Given the description of an element on the screen output the (x, y) to click on. 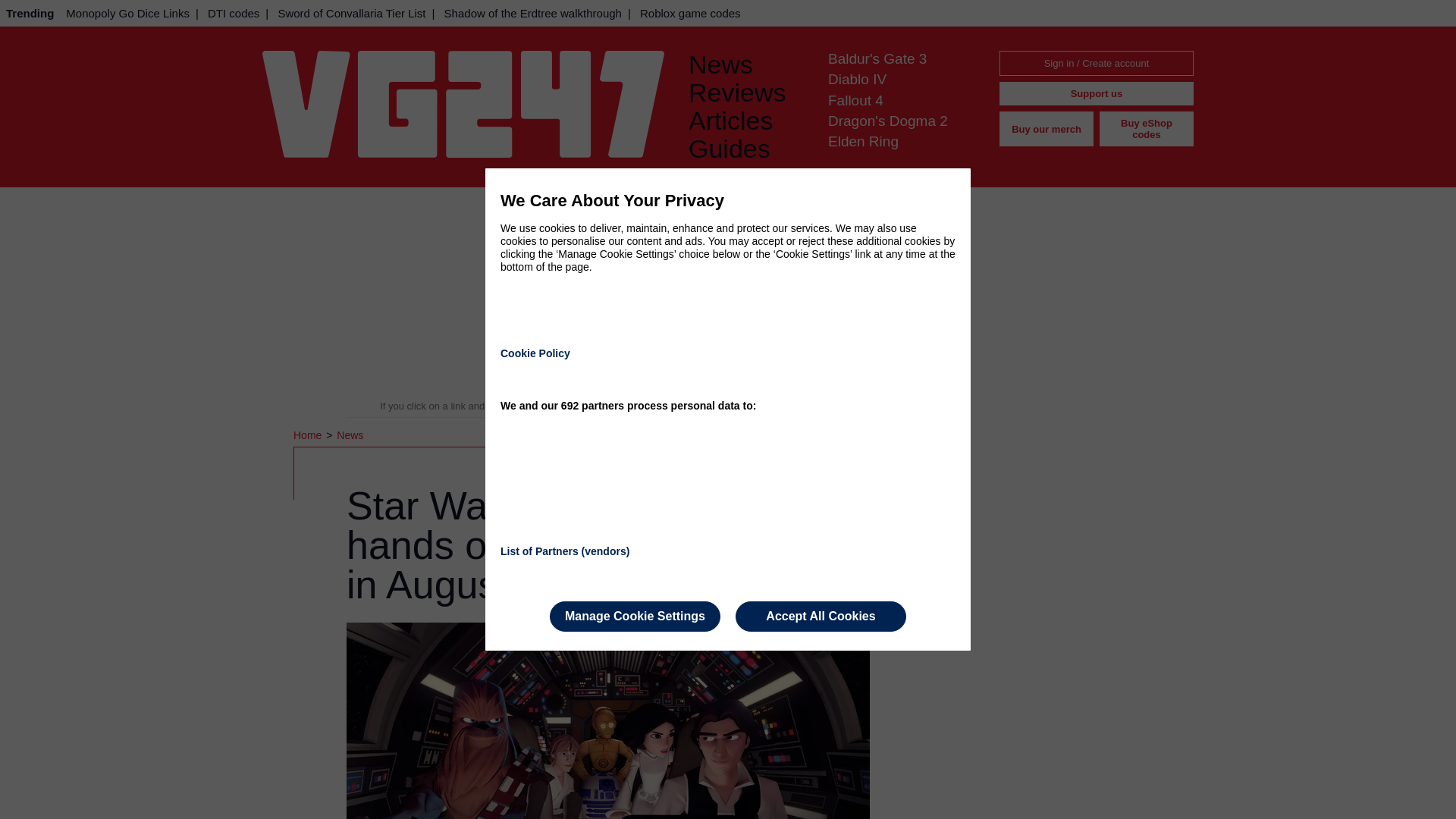
Home (309, 435)
Diablo IV (857, 78)
DTI codes (233, 13)
Baldur's Gate 3 (877, 58)
Monopoly Go Dice Links (127, 13)
Monopoly Go Dice Links (127, 13)
Roblox game codes (689, 13)
Fallout 4 (855, 100)
Sword of Convallaria Tier List (350, 13)
Articles (745, 121)
